Given the description of an element on the screen output the (x, y) to click on. 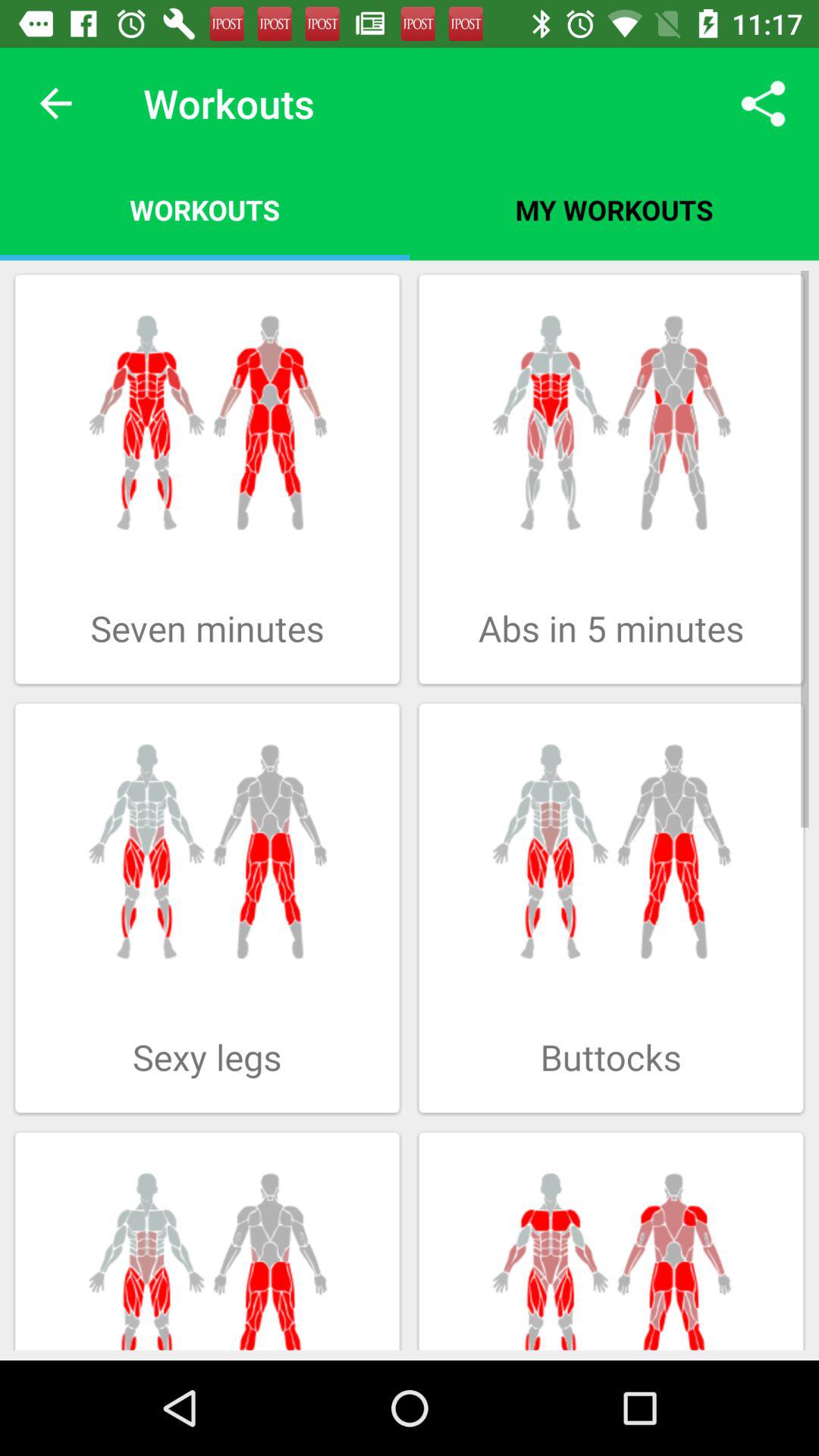
scroll until my workouts (614, 209)
